Given the description of an element on the screen output the (x, y) to click on. 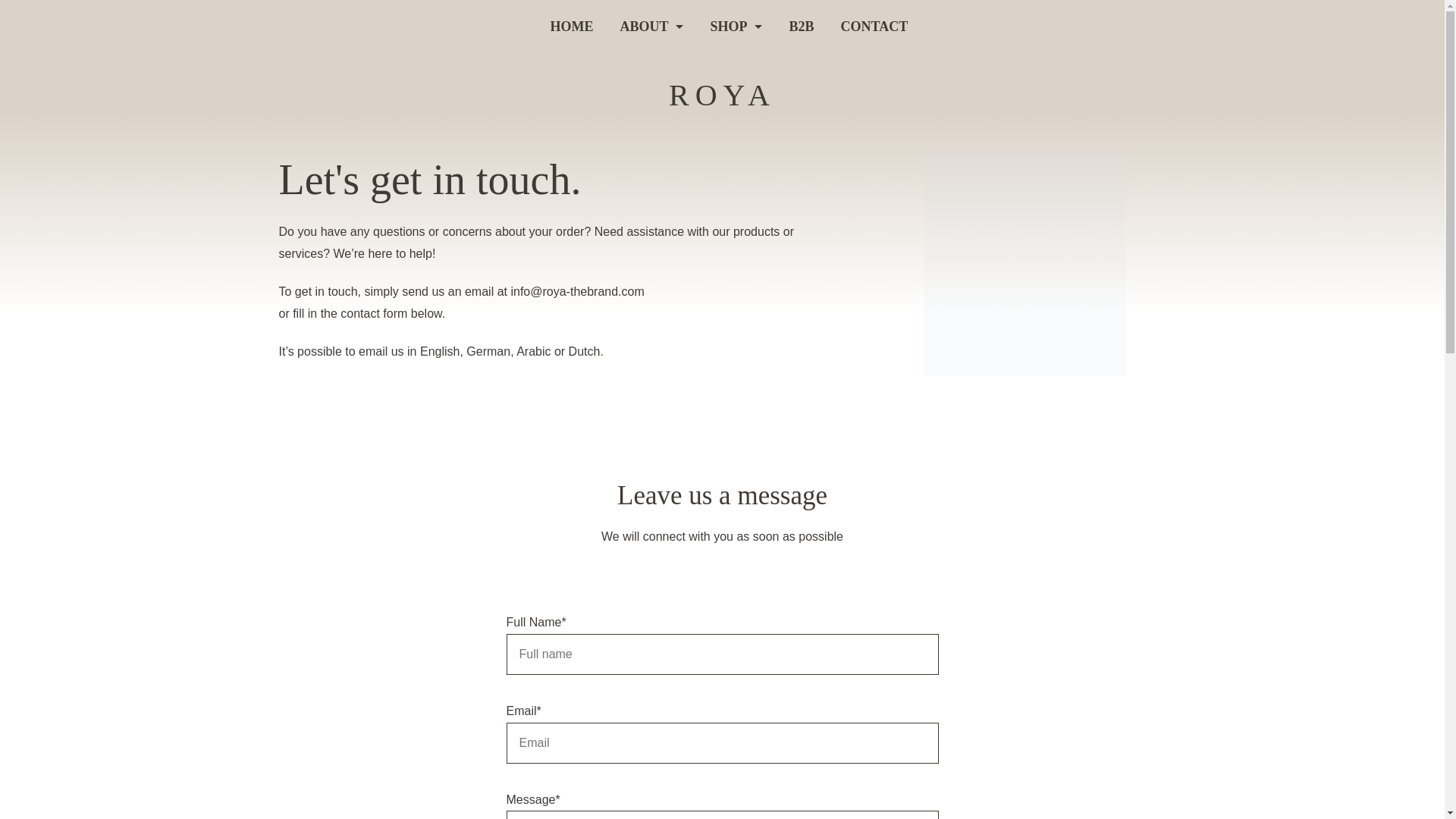
ABOUT (652, 26)
SHOP (736, 26)
CONTACT (867, 26)
B2B (801, 26)
HOME (578, 26)
